Given the description of an element on the screen output the (x, y) to click on. 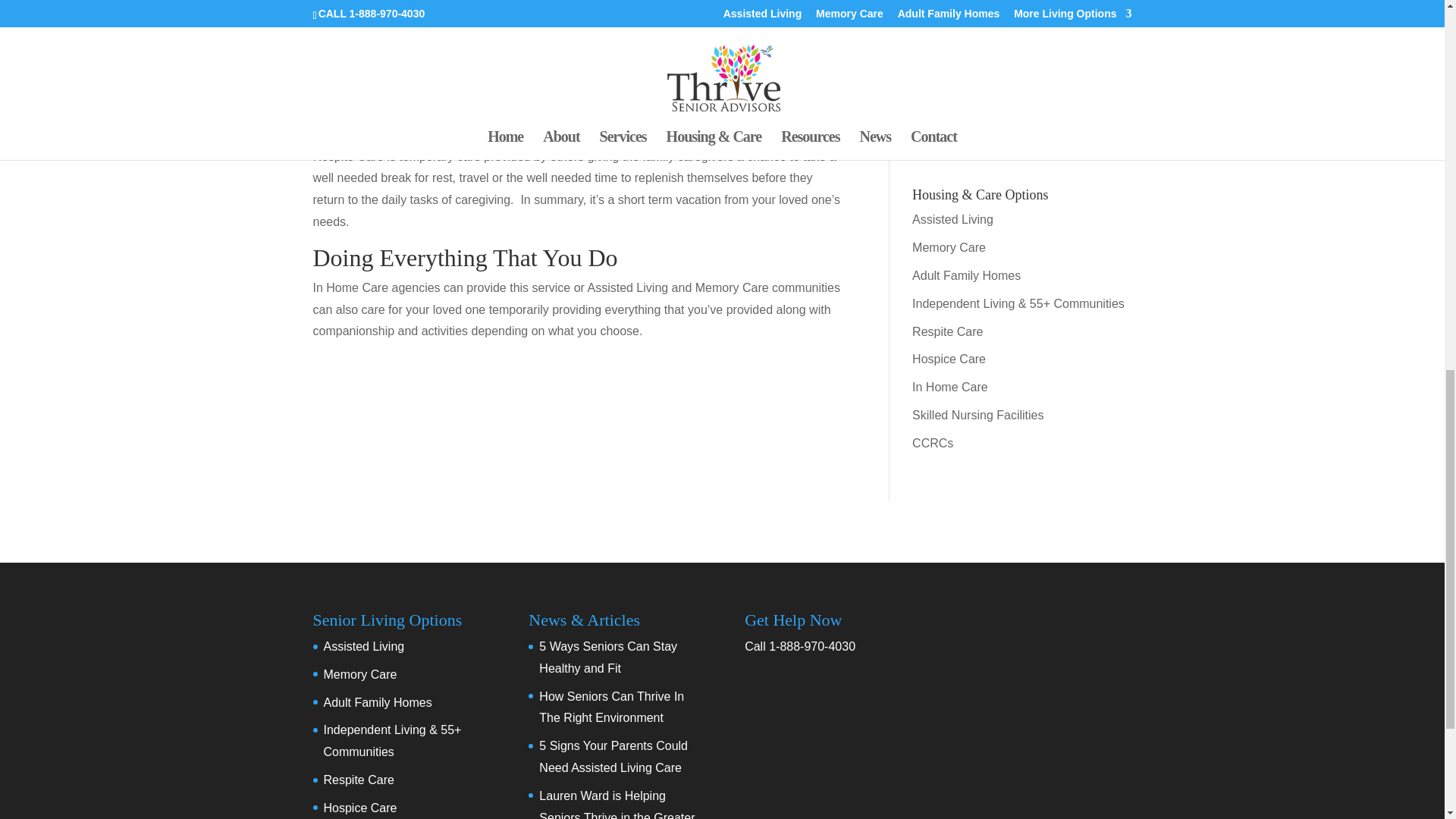
How Seniors Can Thrive In The Right Environment (1012, 19)
